Given the description of an element on the screen output the (x, y) to click on. 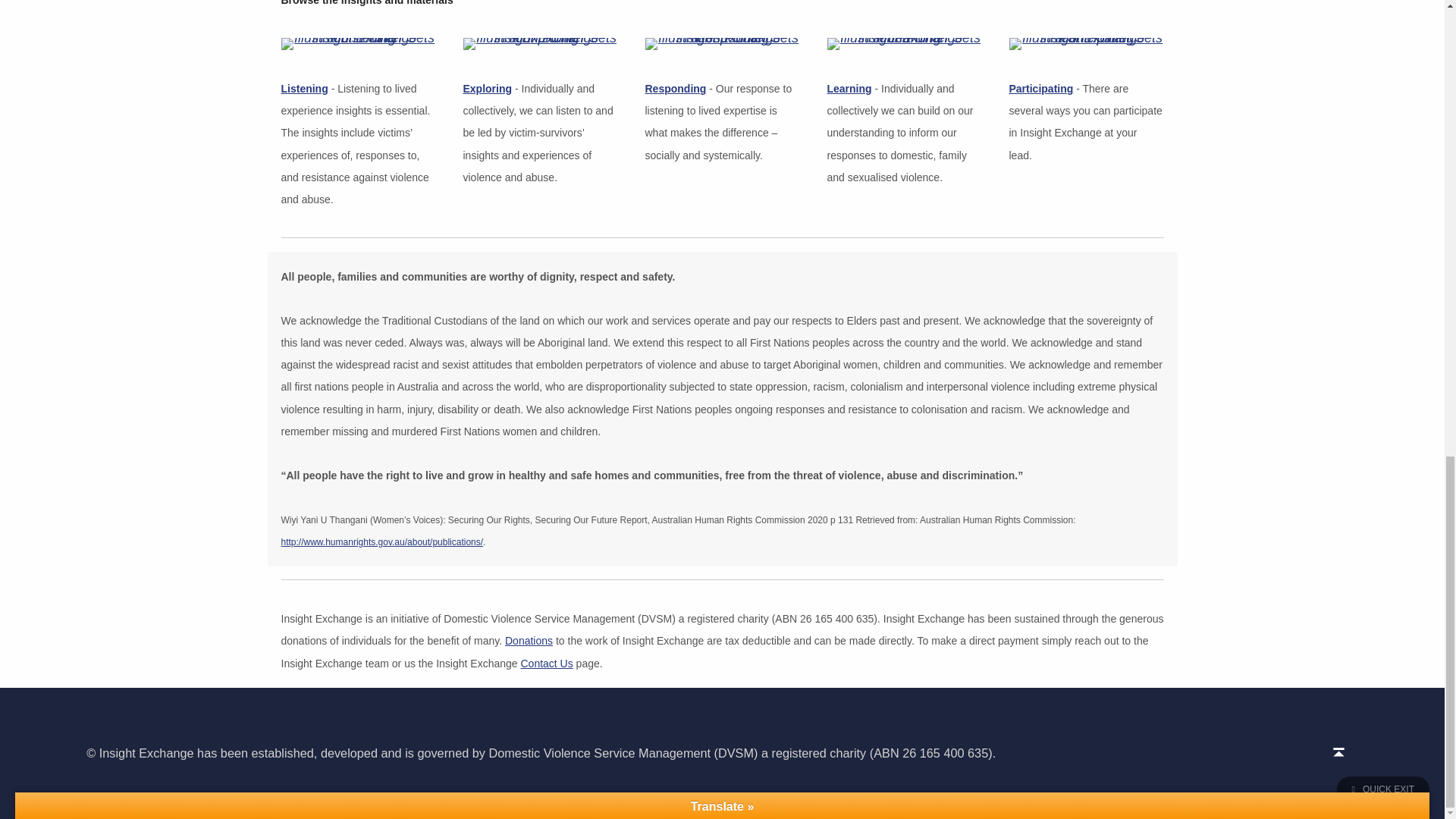
Back to top (1338, 752)
Insight Exchange Illustration Pointer Sets - Listening (358, 43)
Insight Exchange Illustration Pointer Sets - Exploring (540, 43)
Insight Exchange Illustration Pointer Sets - Responding (722, 43)
Insight Exchange Illustration Pointer Sets - Learning (904, 43)
Insight Exchange Illustration Pointer Sets - Participating (1086, 43)
